Given the description of an element on the screen output the (x, y) to click on. 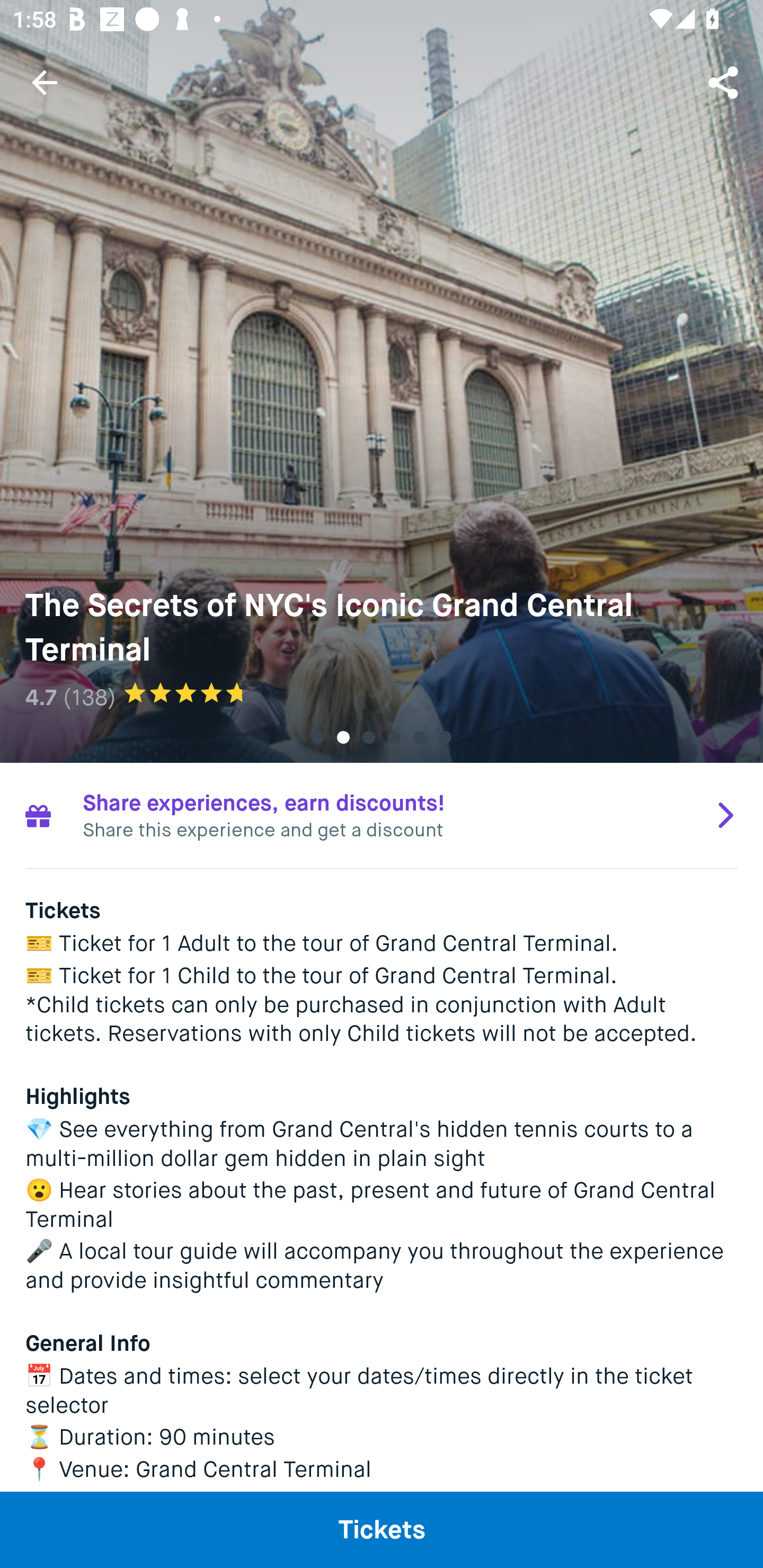
Navigate up (44, 82)
Share (724, 81)
(138) (89, 697)
Tickets (381, 1529)
